Given the description of an element on the screen output the (x, y) to click on. 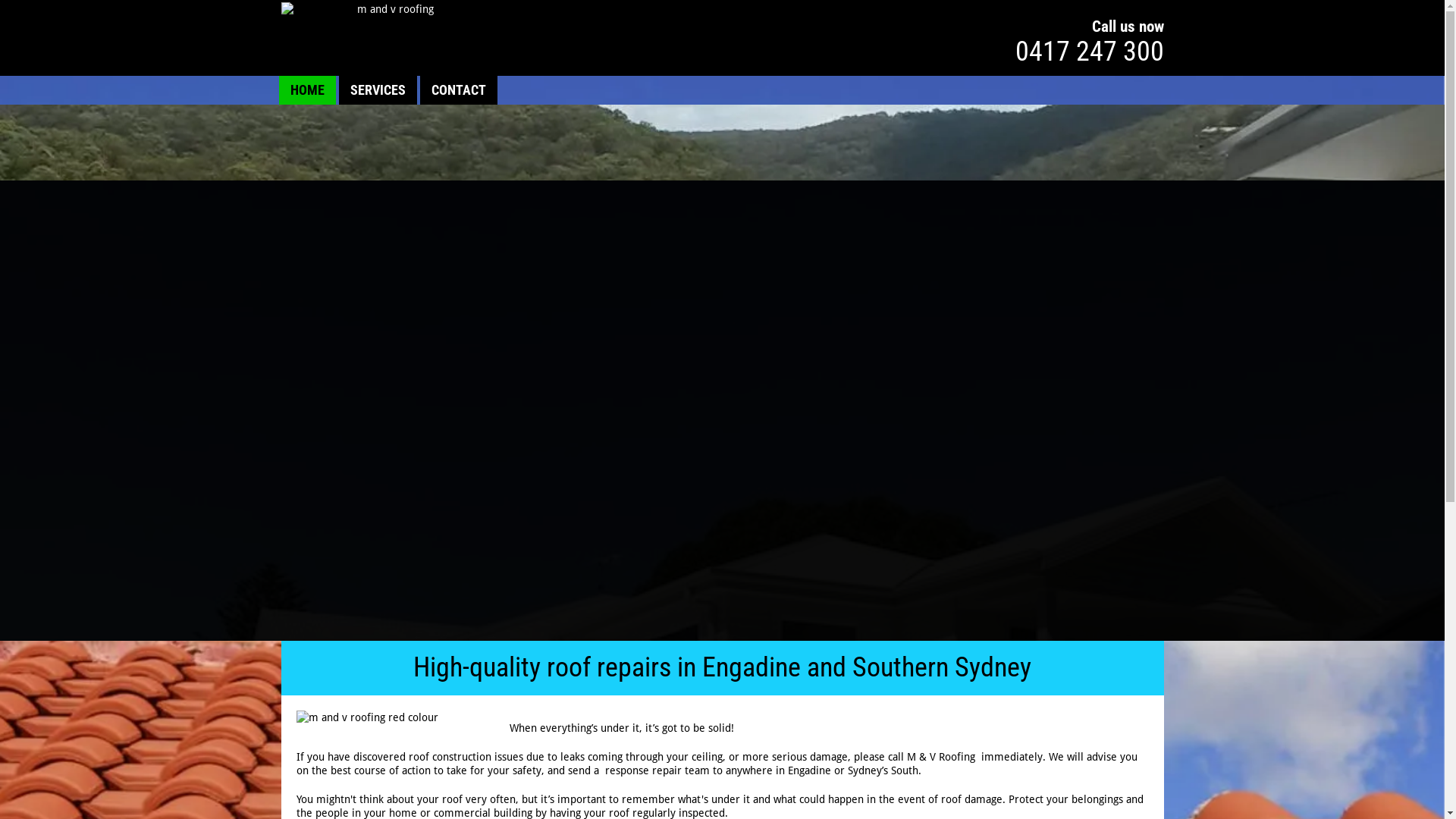
SERVICES Element type: text (377, 90)
0417 247 300 Element type: text (1088, 51)
HOME Element type: text (306, 90)
CONTACT Element type: text (457, 90)
m and v roofing Element type: hover (389, 8)
m and v roofing red colour Element type: hover (398, 717)
